Given the description of an element on the screen output the (x, y) to click on. 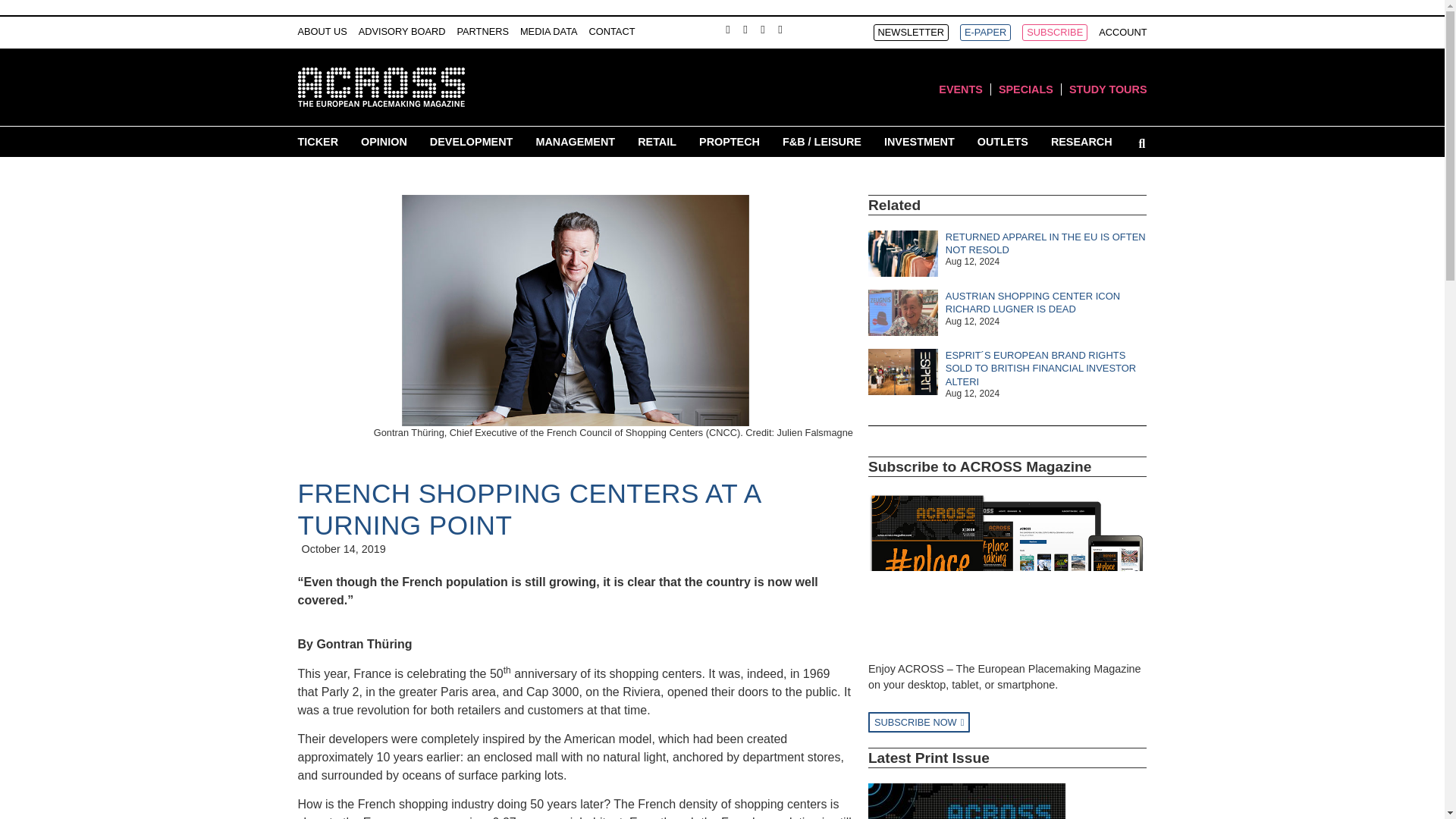
INVESTMENT (919, 141)
MEDIA DATA (548, 31)
NEWSLETTER (911, 32)
CONTACT (611, 31)
ADVISORY BOARD (401, 31)
ACCOUNT (1123, 32)
MANAGEMENT (574, 141)
PROPTECH (729, 141)
PARTNERS (482, 31)
E-PAPER (984, 32)
